Given the description of an element on the screen output the (x, y) to click on. 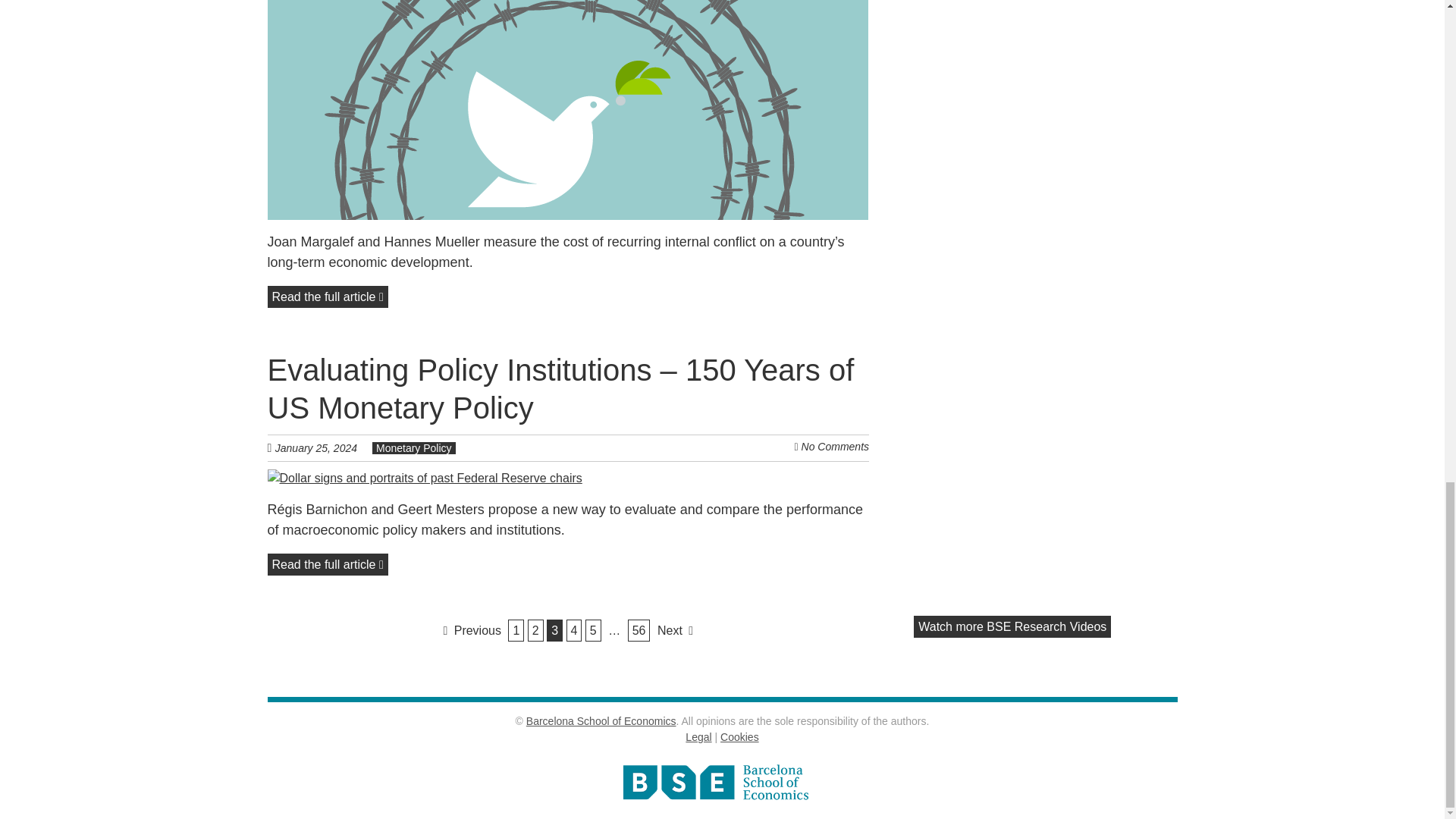
January 25, 2024 (323, 447)
Previous (472, 629)
Read the full article (326, 296)
Read the full article (326, 564)
No Comments (835, 446)
Monetary Policy (413, 448)
